Given the description of an element on the screen output the (x, y) to click on. 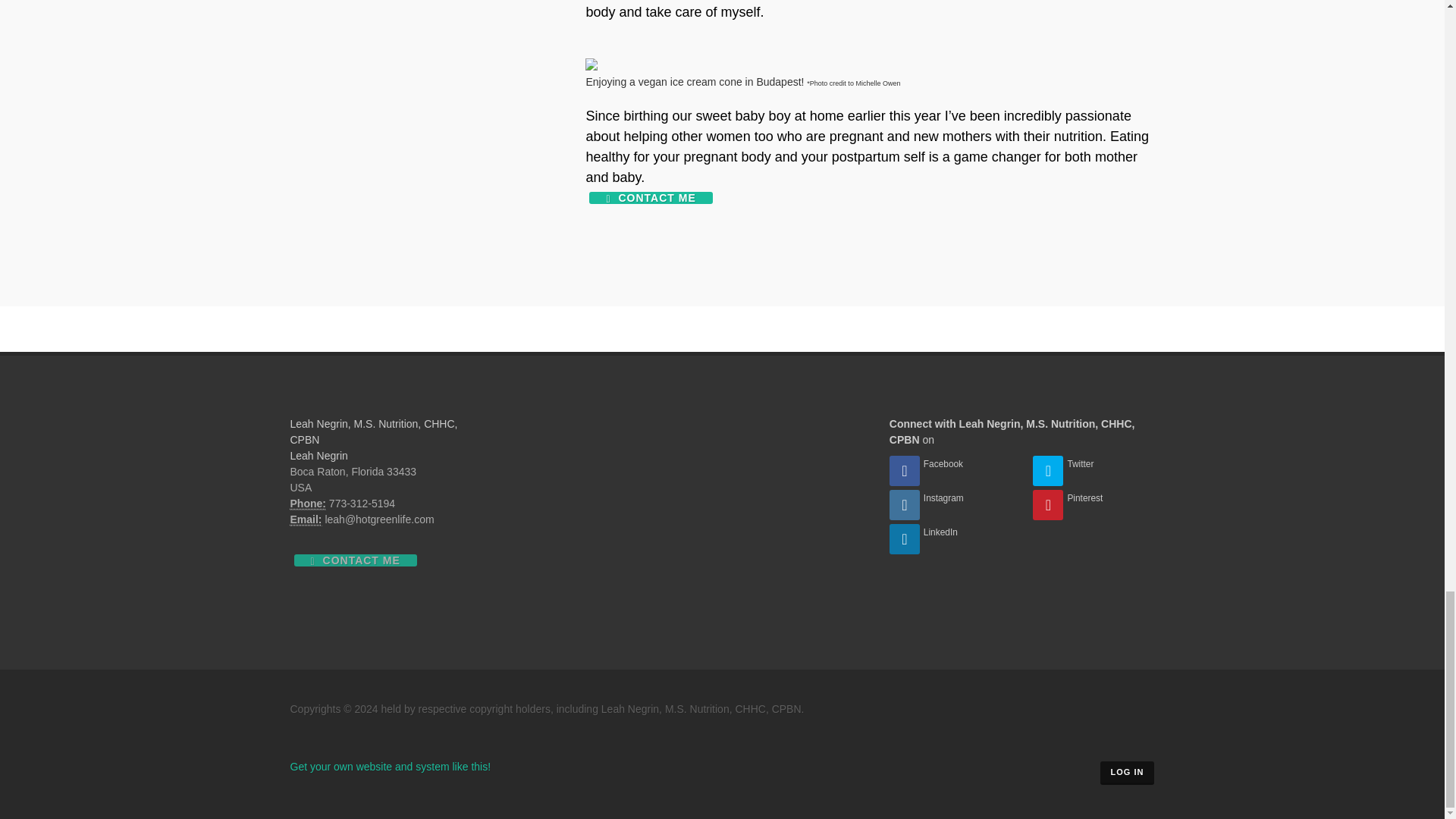
Email Address (305, 519)
Phone Number (306, 503)
